Given the description of an element on the screen output the (x, y) to click on. 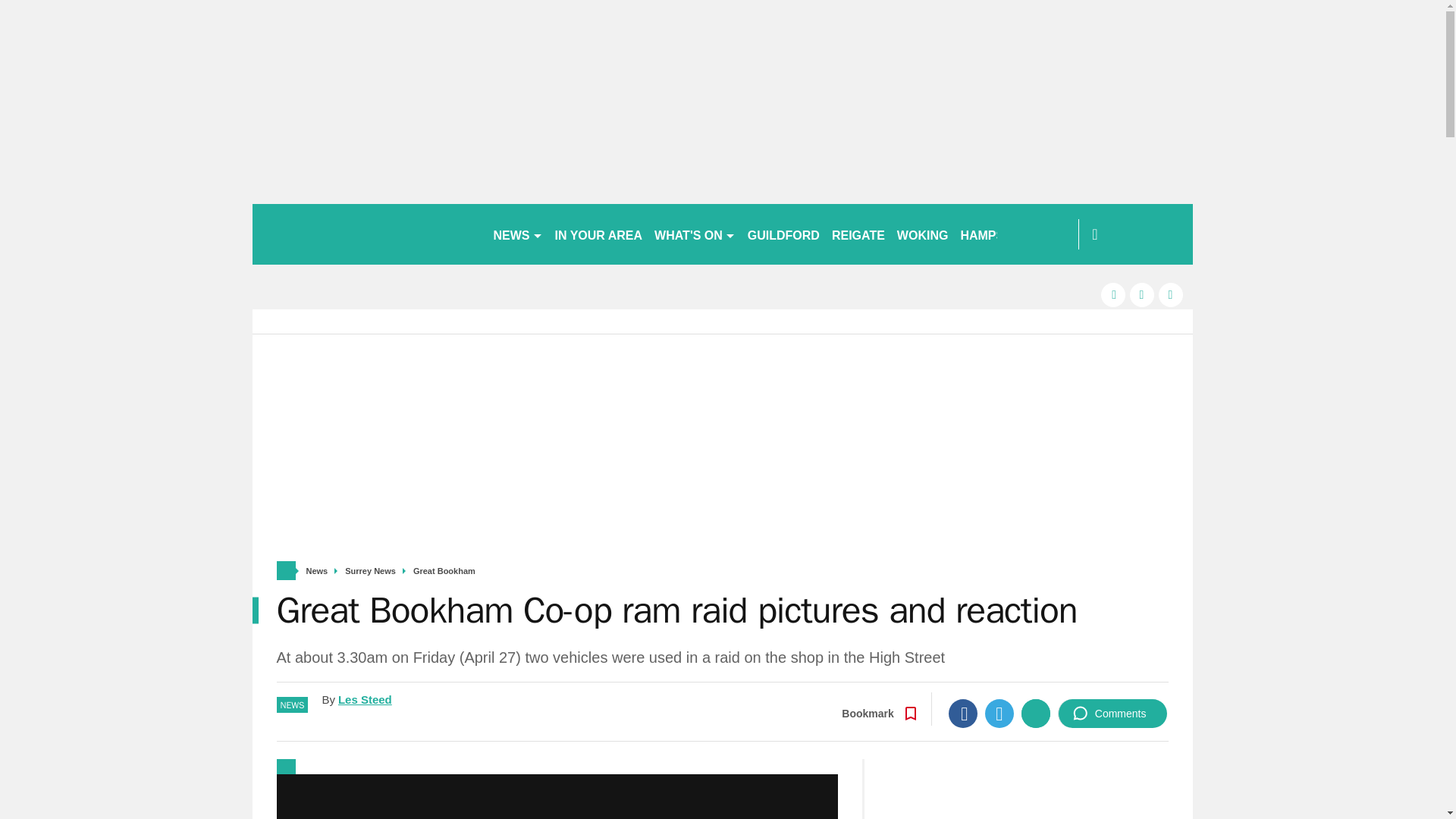
REIGATE (858, 233)
IN YOUR AREA (598, 233)
NEWS (517, 233)
WHAT'S ON (694, 233)
twitter (1141, 294)
HAMPSHIRE (996, 233)
Facebook (962, 713)
getsurrey (365, 233)
Comments (1112, 713)
Twitter (999, 713)
WOKING (923, 233)
GUILDFORD (783, 233)
instagram (1170, 294)
facebook (1112, 294)
